Given the description of an element on the screen output the (x, y) to click on. 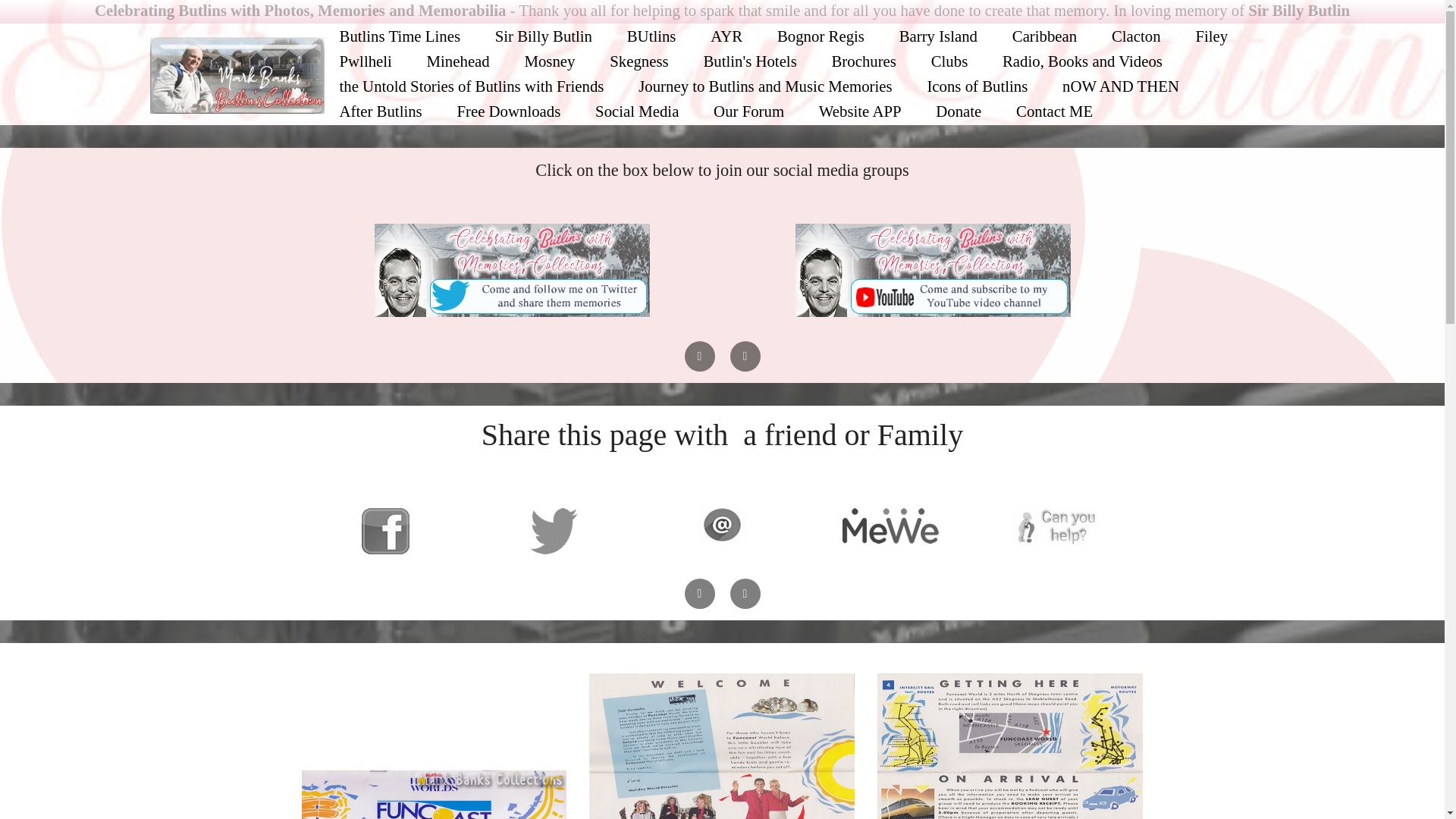
AYR (726, 35)
Journey to Butlins and Music Memories (764, 86)
After Butlins (380, 111)
Free Downloads (507, 111)
Bognor Regis (821, 35)
Clubs (949, 61)
Contact ME (1054, 111)
Barry Island (937, 35)
Sir Billy Butlin (542, 35)
Skegness (638, 61)
Butlin's Hotels (750, 61)
Brochures (864, 61)
Our Forum (749, 111)
Butlins Time Lines (399, 35)
Donate (959, 111)
